Given the description of an element on the screen output the (x, y) to click on. 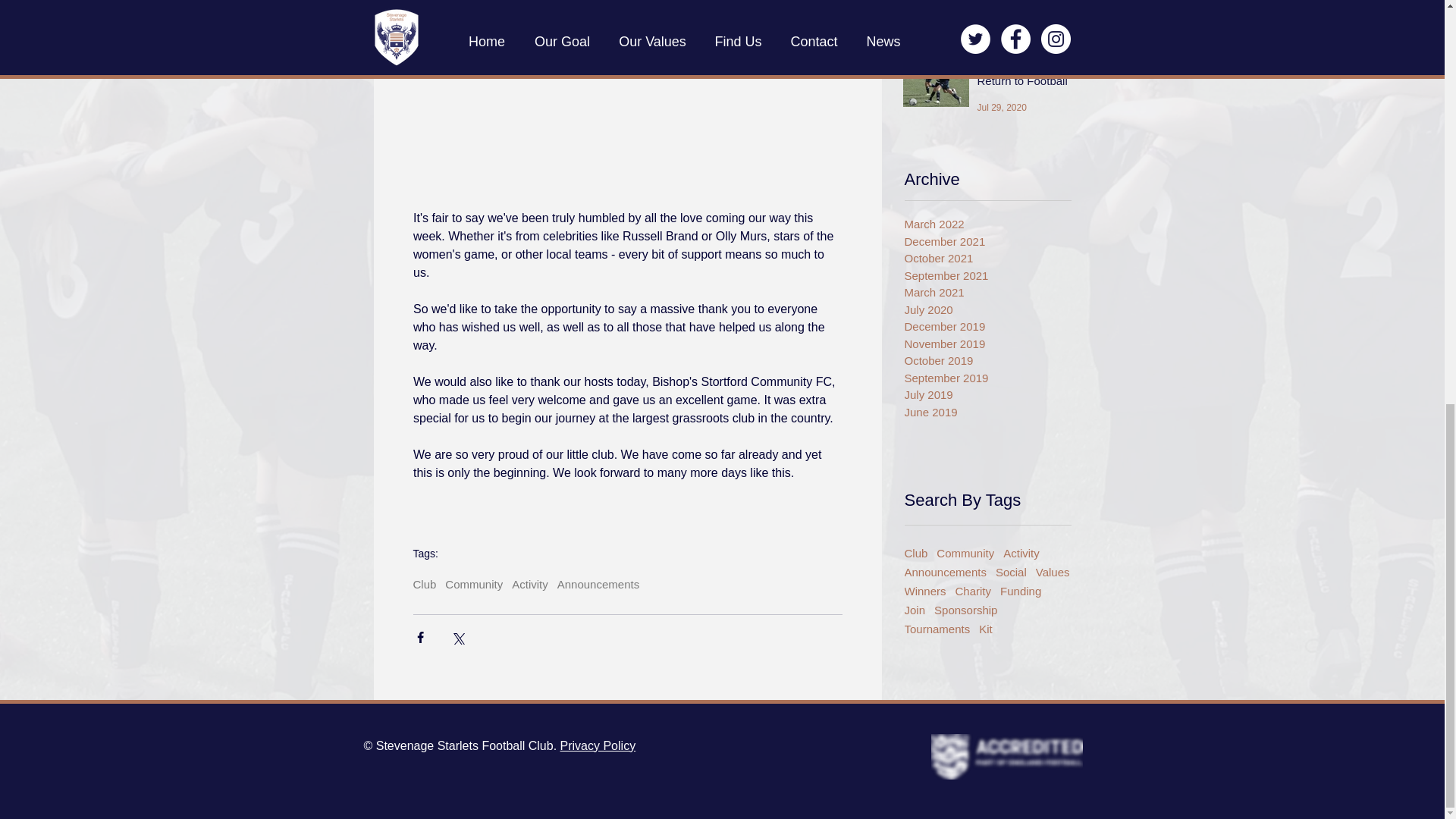
Announcements (598, 584)
December 2021 (983, 241)
Club (915, 553)
Jul 29, 2020 (1001, 107)
Activity (1021, 553)
March 2021 (983, 293)
November 2019 (983, 343)
Community (473, 584)
October 2019 (983, 361)
June 2019 (983, 412)
September 2019 (983, 378)
Mar 1, 2021 (1000, 20)
March 2022 (983, 224)
July 2019 (983, 395)
Club (423, 584)
